Given the description of an element on the screen output the (x, y) to click on. 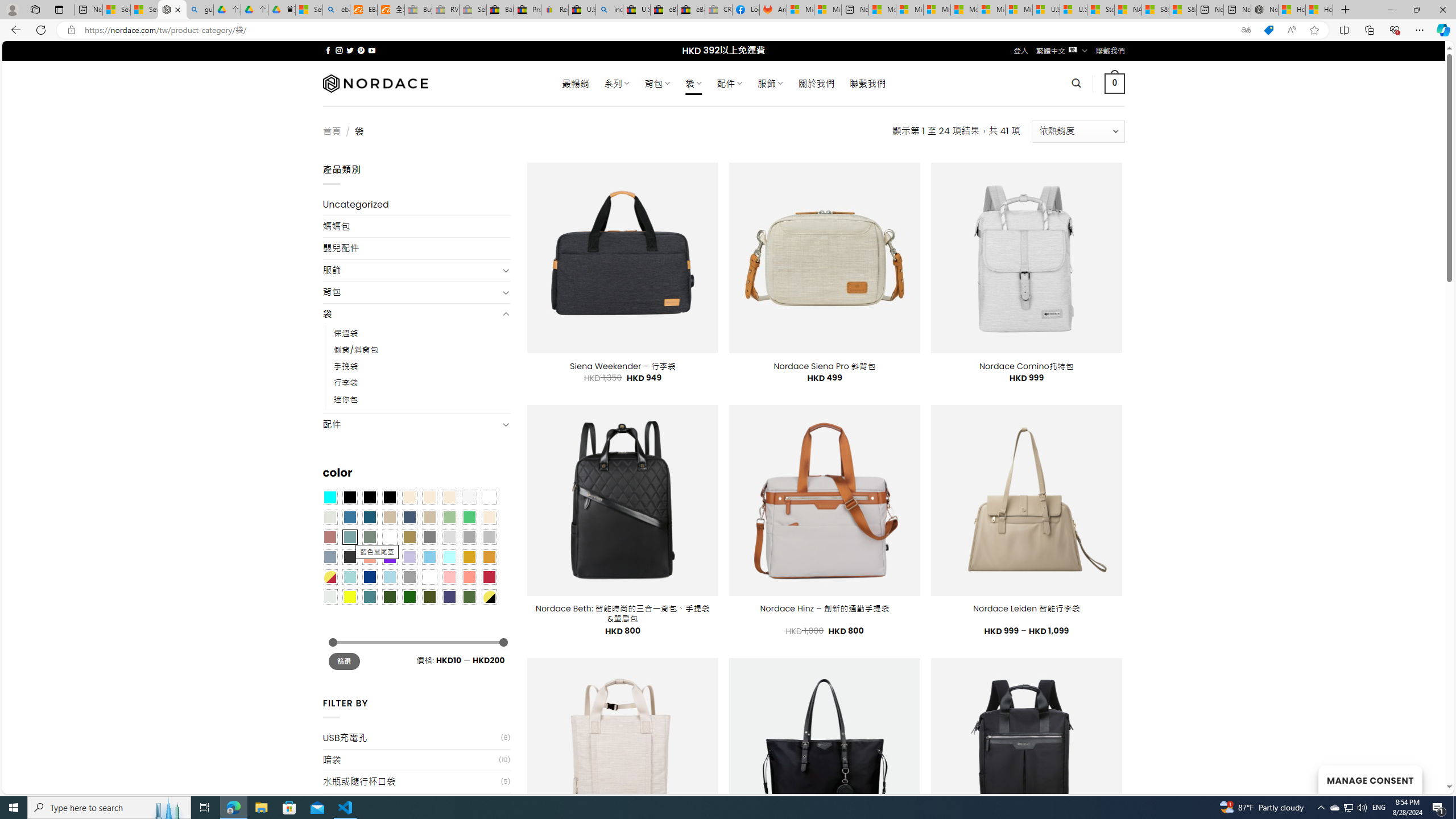
Follow on Facebook (327, 50)
Read aloud this page (Ctrl+Shift+U) (1291, 29)
Follow on Instagram (338, 50)
Follow on Pinterest (360, 50)
Collections (1369, 29)
 0  (1115, 83)
